Given the description of an element on the screen output the (x, y) to click on. 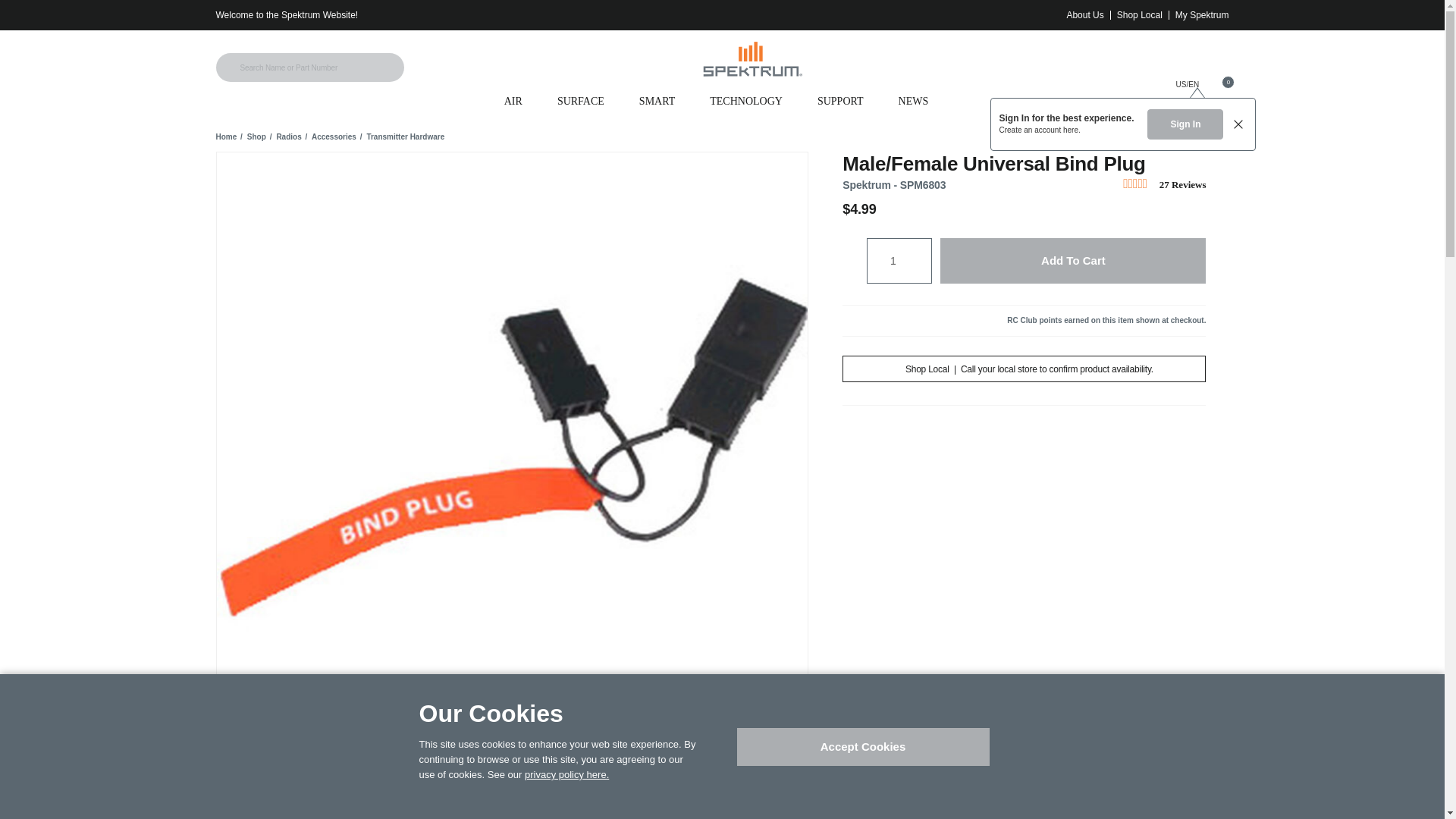
About Us (1084, 14)
Shop Local (1138, 14)
Spektrum Home (751, 59)
here. (1071, 130)
1 (892, 261)
Sign In (1185, 123)
My Spektrum (1201, 14)
